Given the description of an element on the screen output the (x, y) to click on. 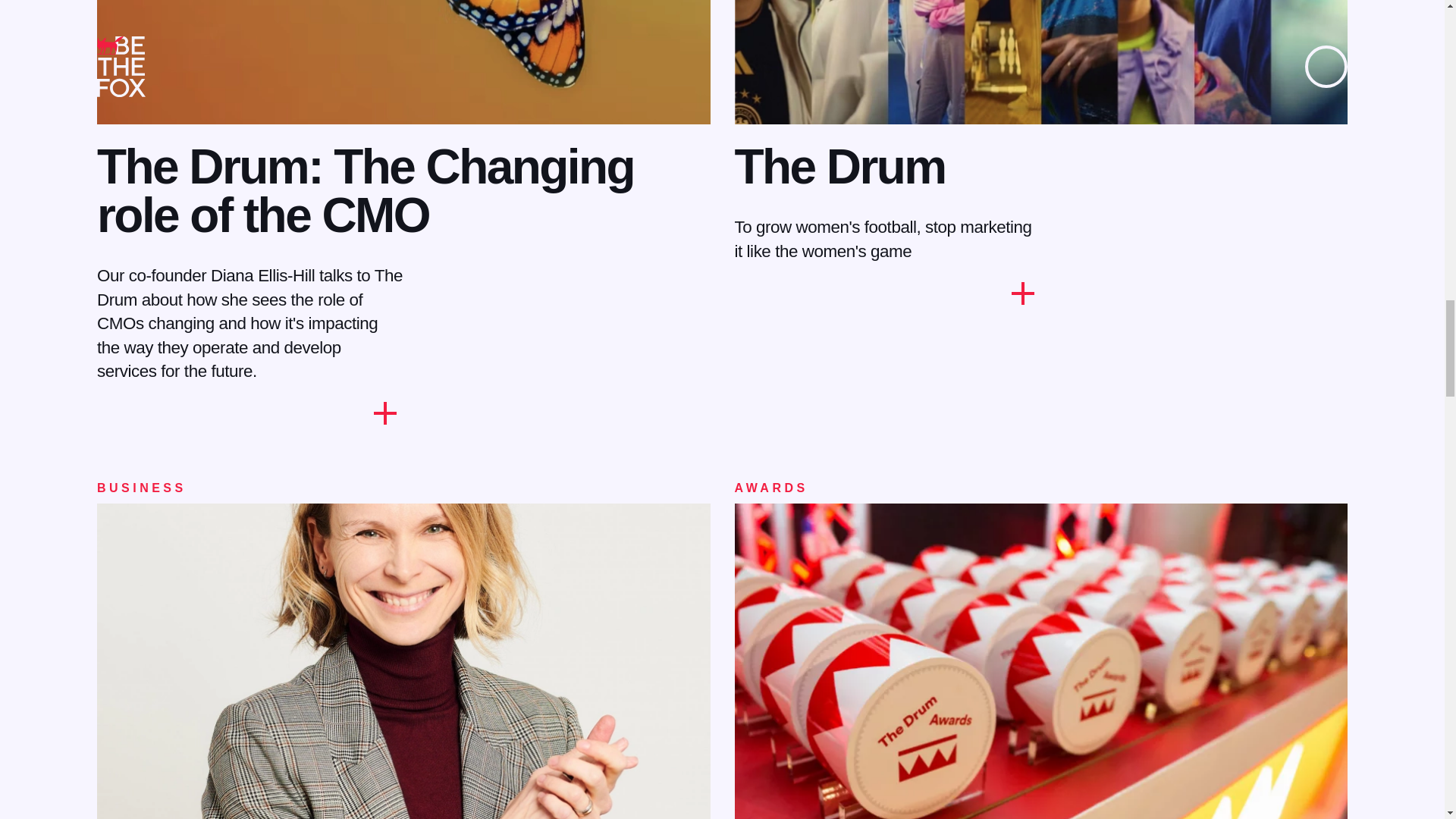
The Drum (838, 166)
The Drum: The Changing role of the CMO (365, 190)
